Given the description of an element on the screen output the (x, y) to click on. 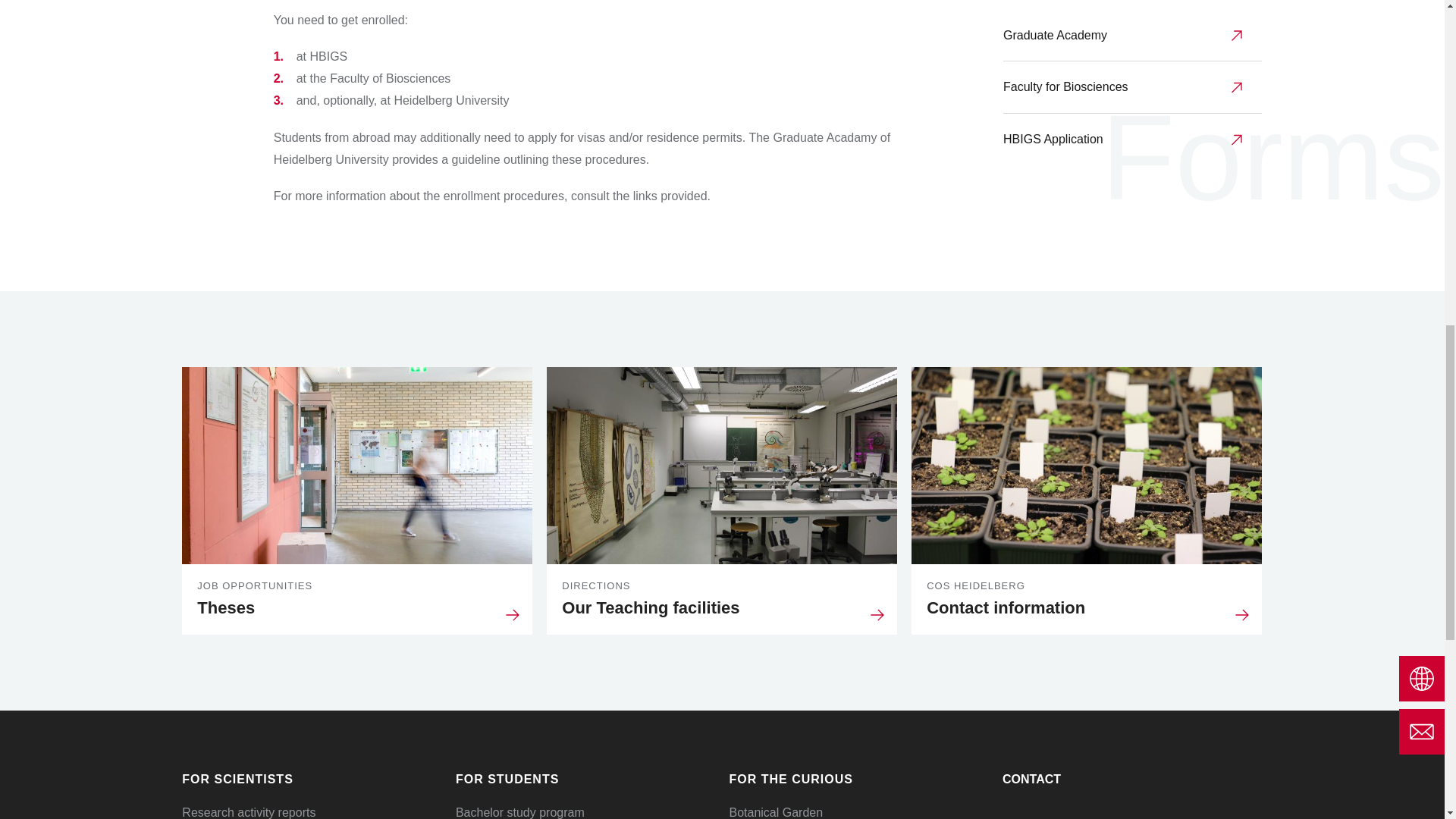
Bachelor study program (520, 812)
Graduate Academy (1132, 35)
Research activity reports (1085, 500)
Botanical Garden (721, 500)
HBIGS Application (248, 812)
Faculty for Biosciences (356, 500)
